Given the description of an element on the screen output the (x, y) to click on. 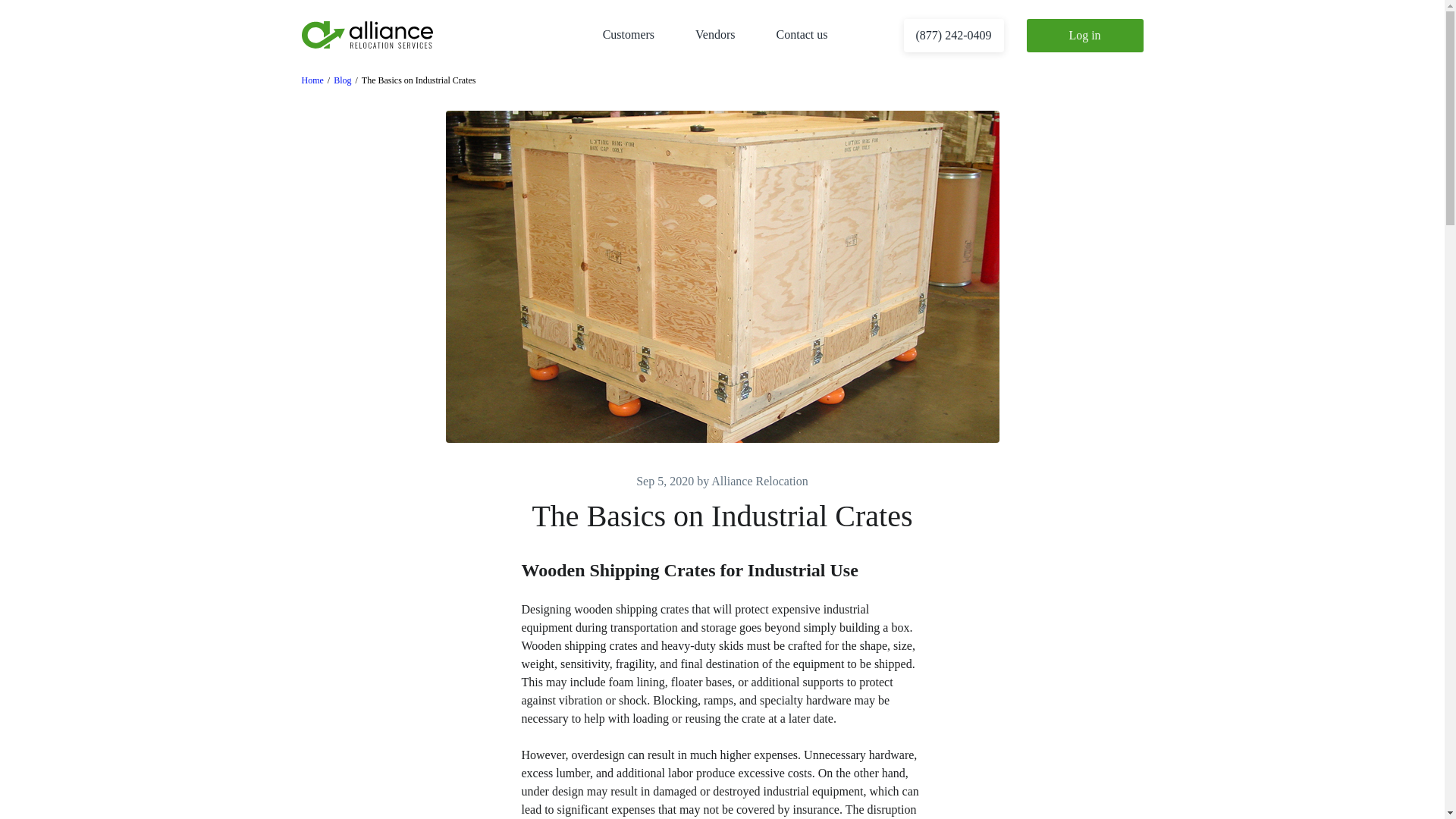
Vendors (715, 33)
Blog (341, 80)
Go to Alliance Relocation Services. (312, 80)
Go to Blog. (341, 80)
Customers (627, 33)
Contact us (802, 33)
Home (312, 80)
